Given the description of an element on the screen output the (x, y) to click on. 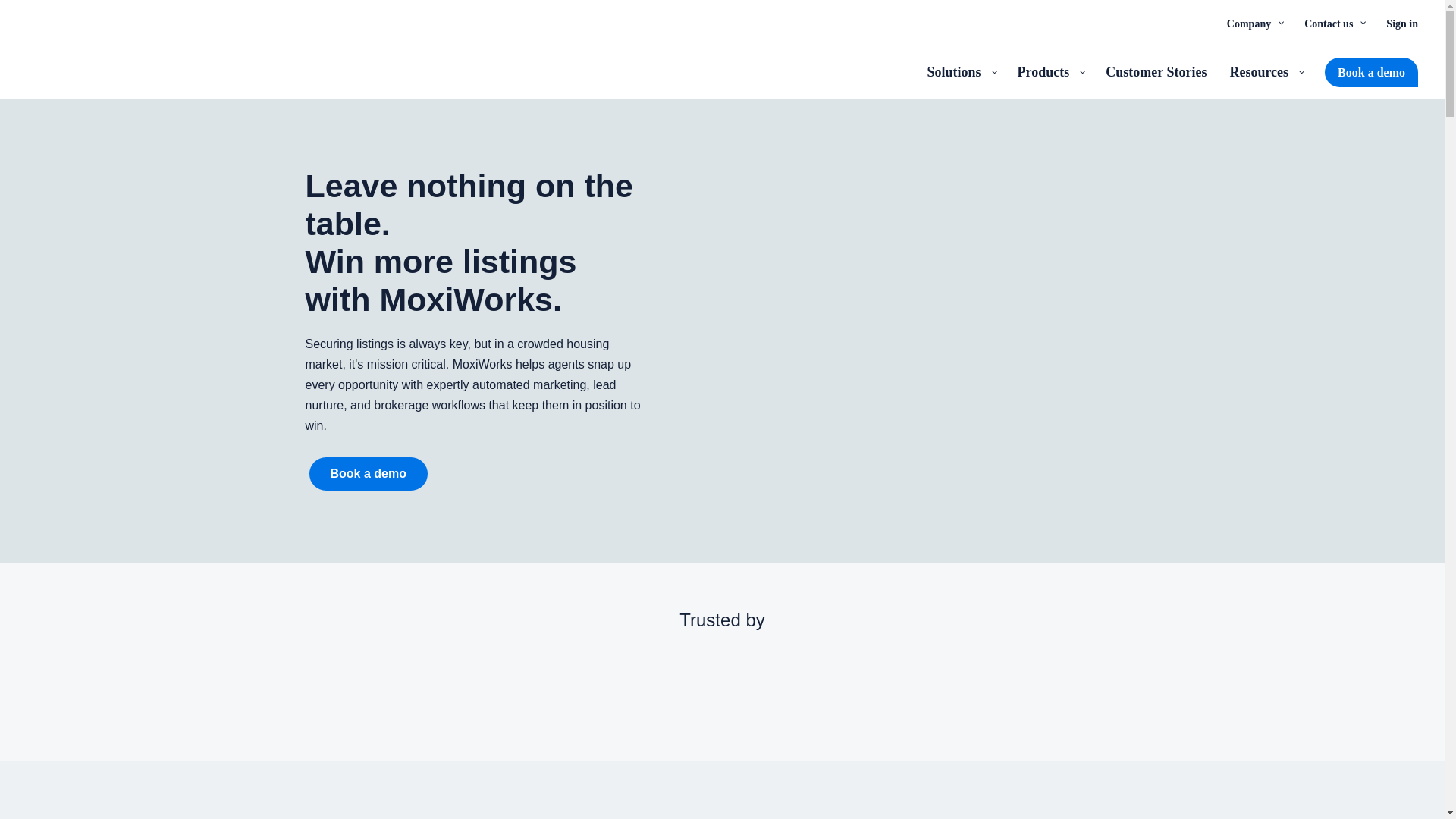
Products (1050, 72)
Sign in (1401, 22)
Contact us (1333, 22)
Solutions (960, 72)
Company (1253, 22)
